Given the description of an element on the screen output the (x, y) to click on. 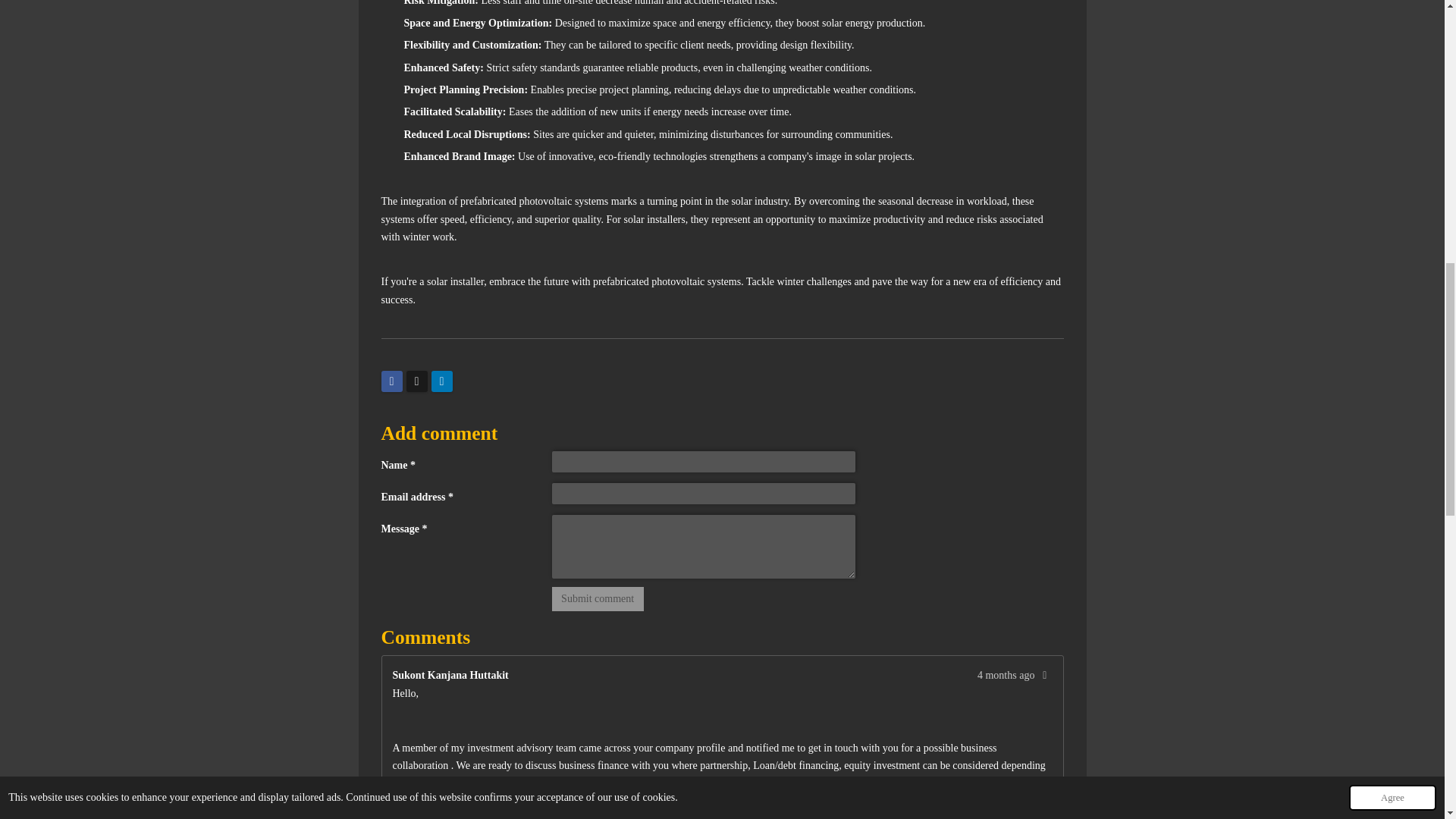
Submit comment (597, 598)
Agree (1392, 8)
Reply (1044, 674)
